Given the description of an element on the screen output the (x, y) to click on. 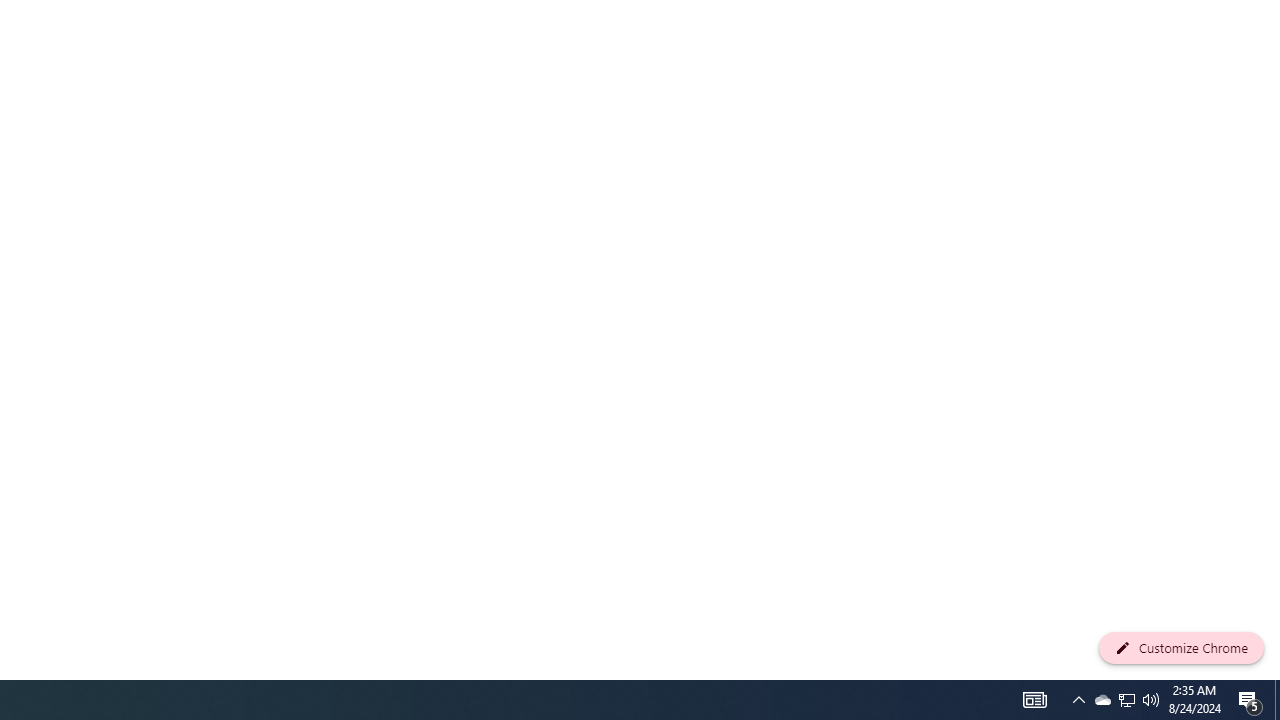
Customize Chrome (1181, 647)
